Given the description of an element on the screen output the (x, y) to click on. 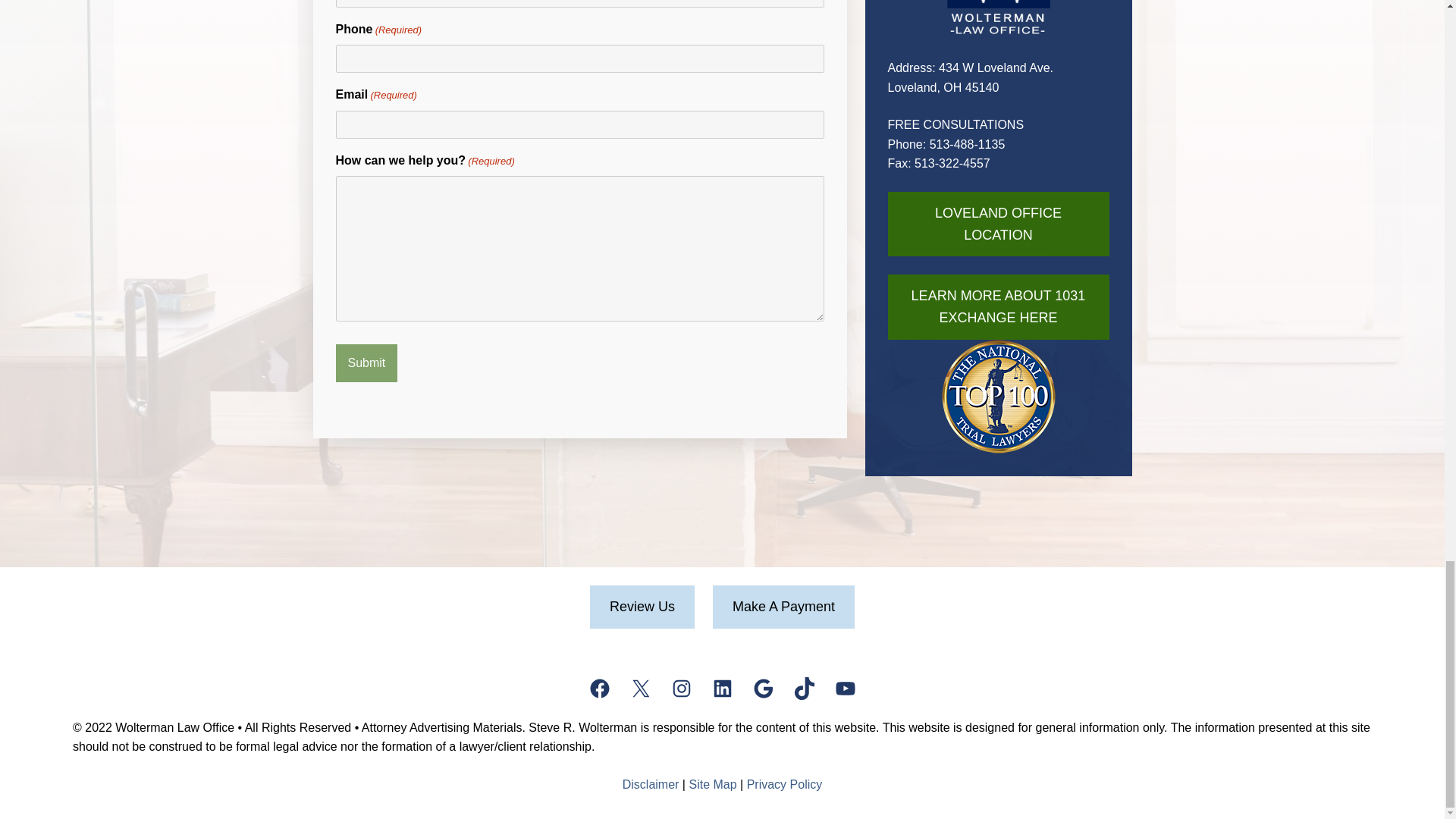
Submit (365, 362)
